Given the description of an element on the screen output the (x, y) to click on. 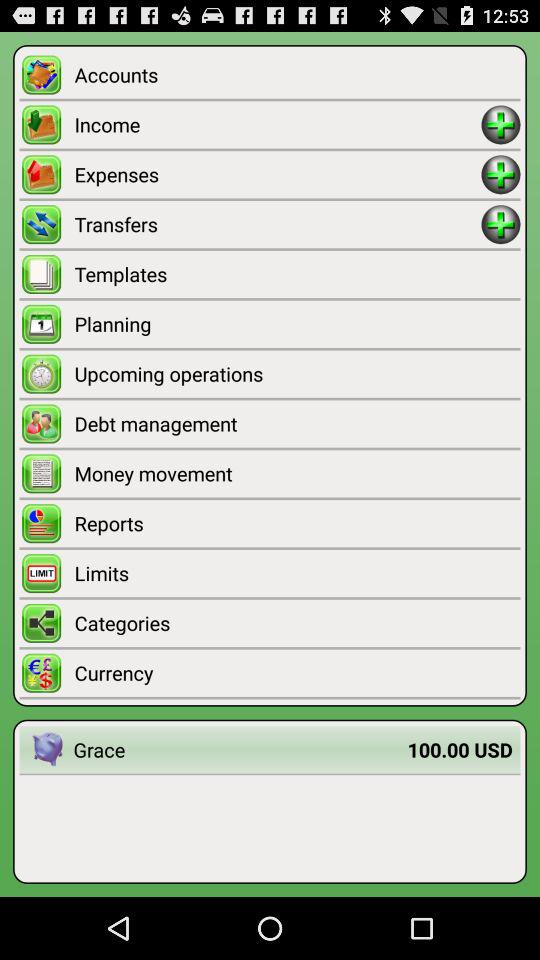
scroll until the reports app (297, 523)
